Given the description of an element on the screen output the (x, y) to click on. 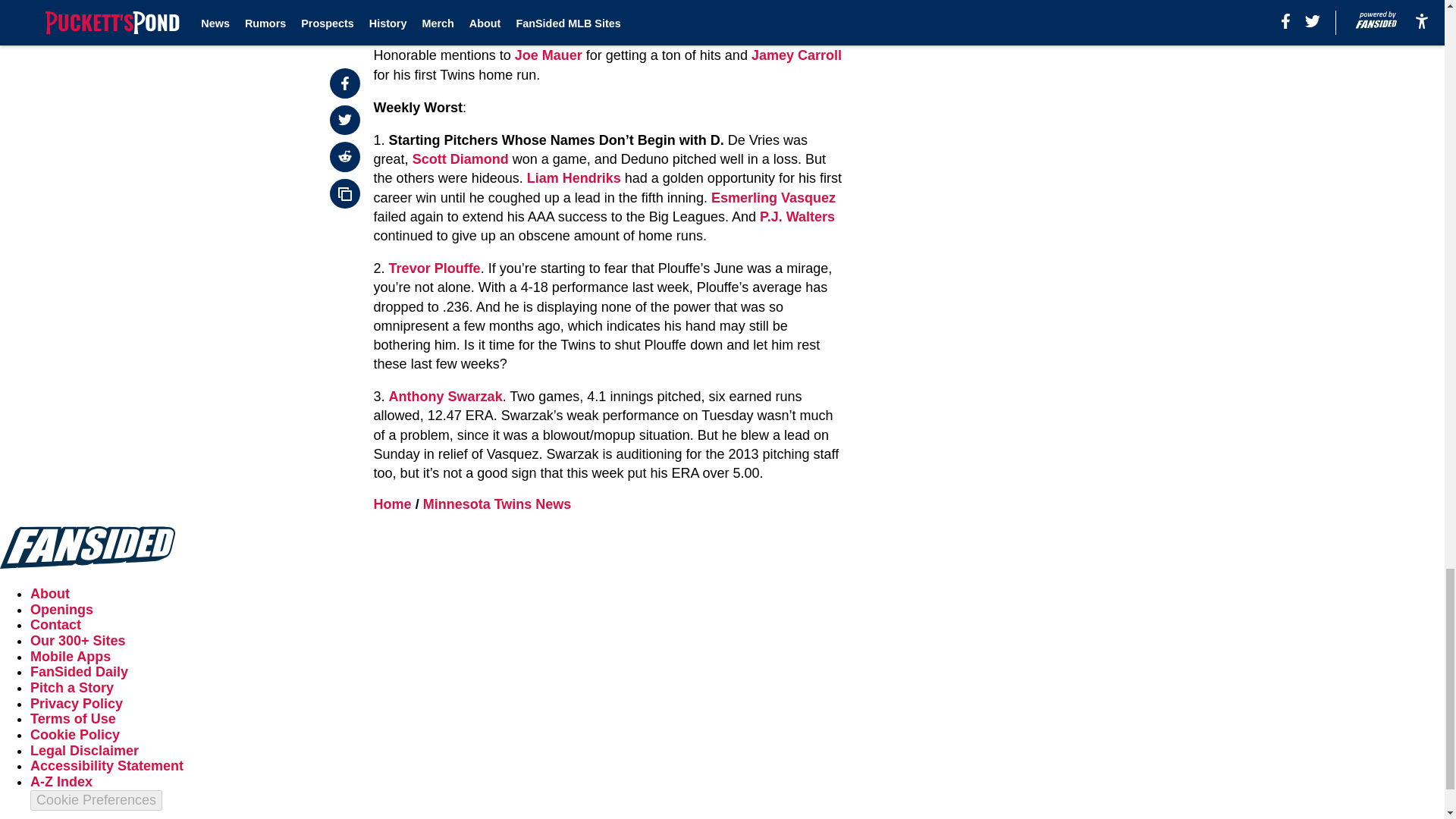
P.J. Walters (797, 216)
Scott Diamond (460, 159)
Trevor Plouffe (434, 268)
Jamey Carroll (796, 55)
Esmerling Vasquez (773, 197)
Liam Hendriks (574, 177)
Joe Mauer (548, 55)
